Given the description of an element on the screen output the (x, y) to click on. 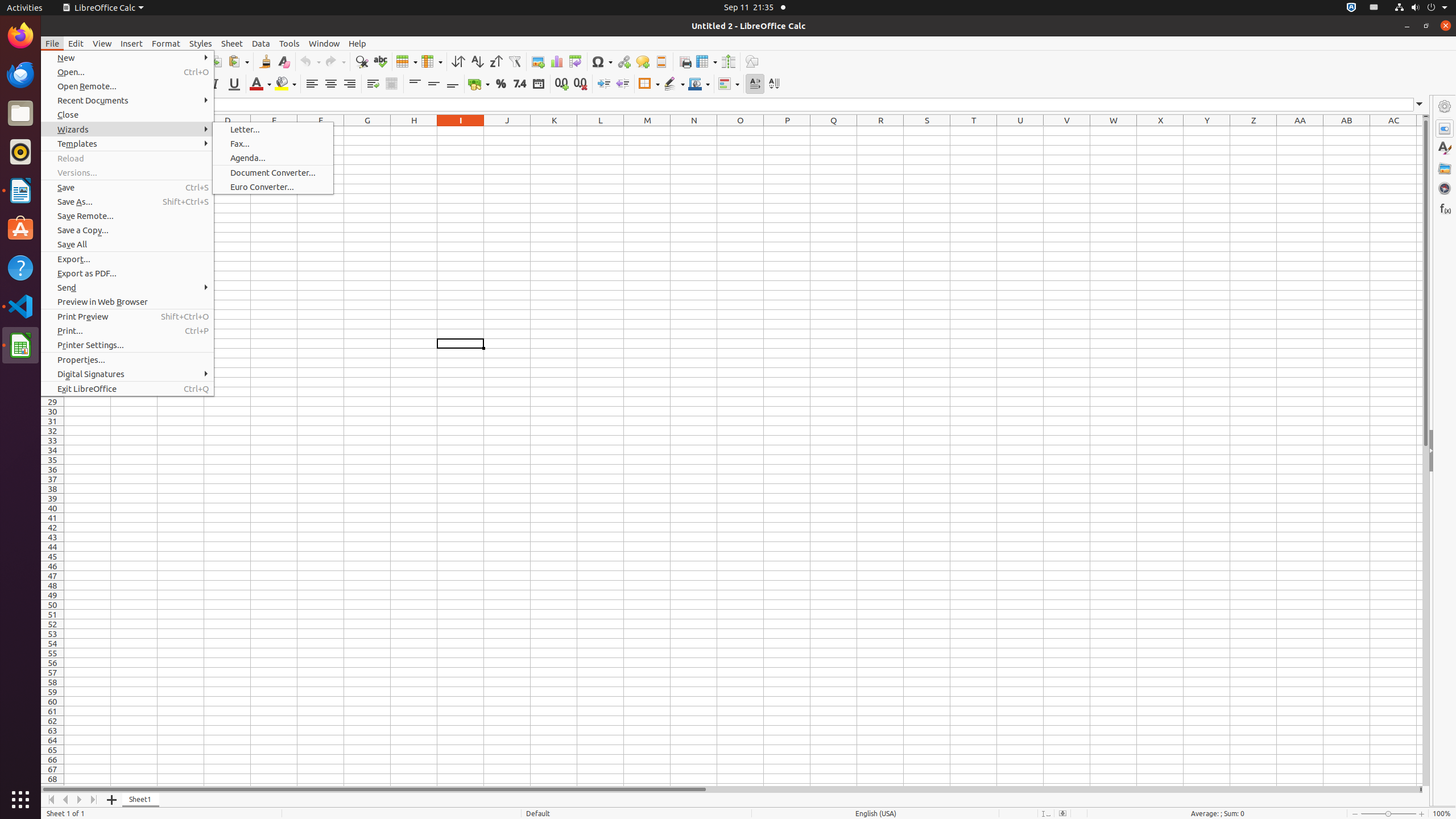
Preview in Web Browser Element type: menu-item (126, 301)
Euro Converter... Element type: menu-item (272, 186)
Navigator Element type: radio-button (1444, 188)
Y1 Element type: table-cell (1206, 130)
Currency Element type: push-button (478, 83)
